Given the description of an element on the screen output the (x, y) to click on. 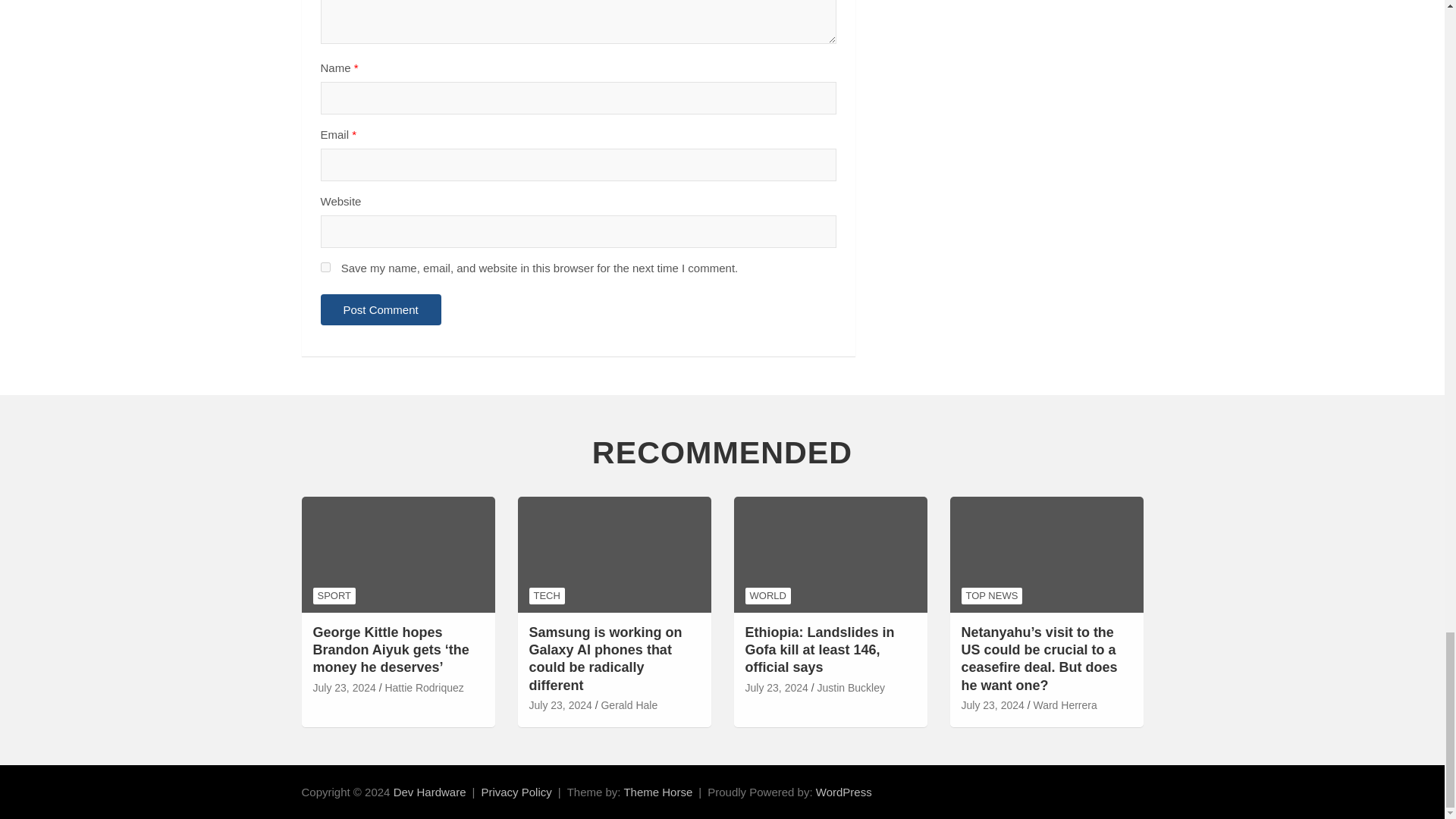
Dev Hardware (429, 791)
Post Comment (380, 309)
Post Comment (380, 309)
Theme Horse (658, 791)
yes (325, 266)
WordPress (843, 791)
